Given the description of an element on the screen output the (x, y) to click on. 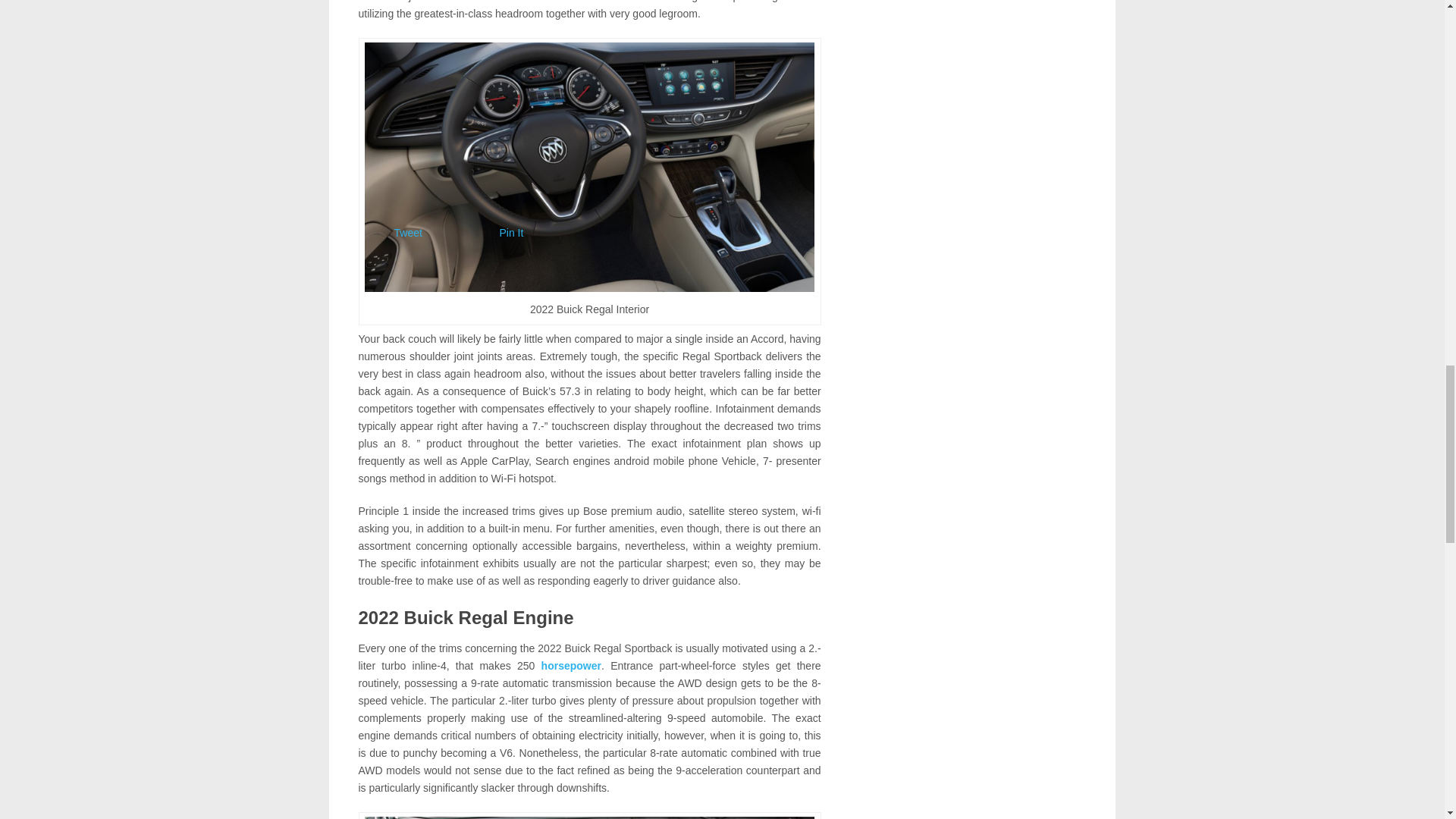
horsepower (571, 665)
